Given the description of an element on the screen output the (x, y) to click on. 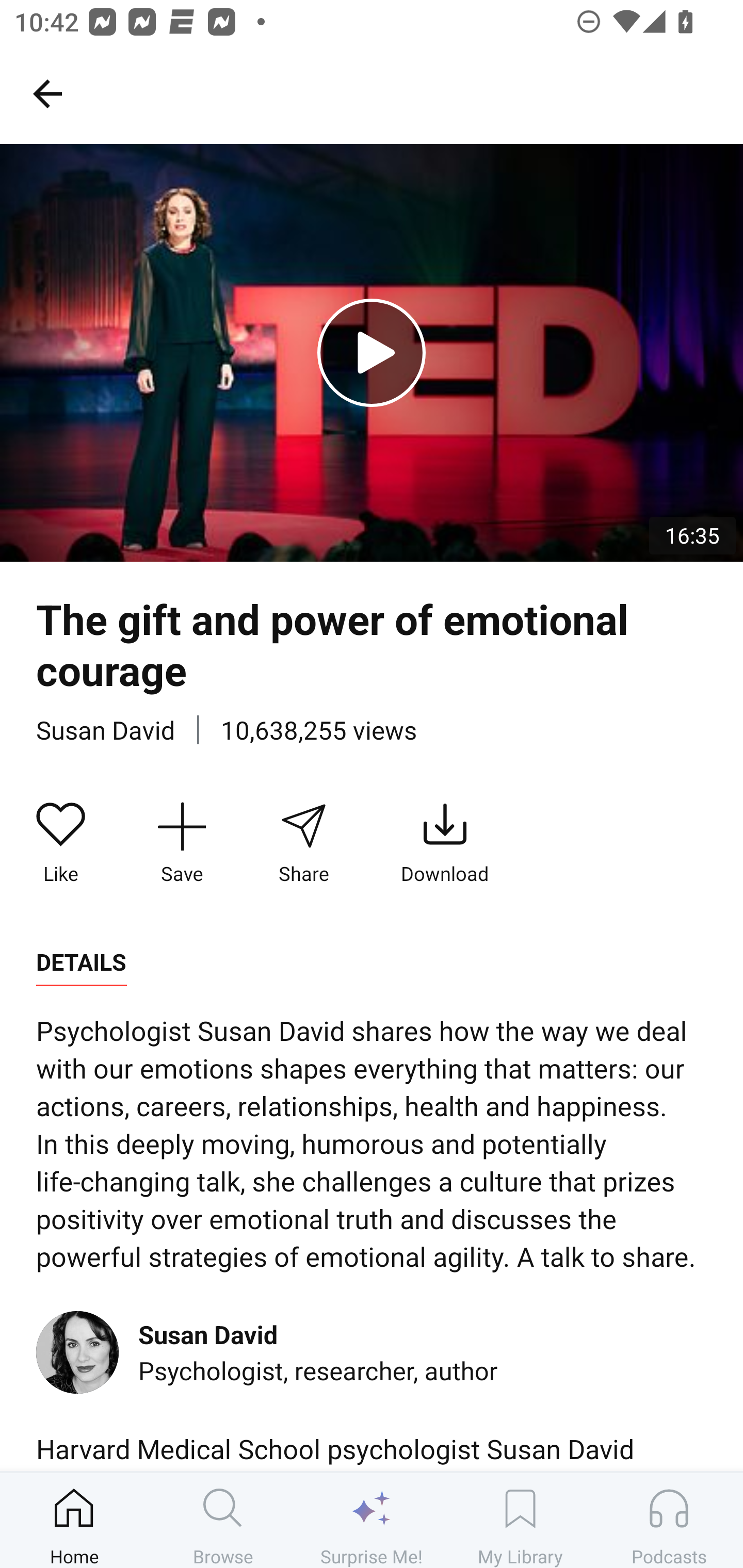
Home, back (47, 92)
Like (60, 843)
Save (181, 843)
Share (302, 843)
Download (444, 843)
DETAILS (80, 962)
Home (74, 1520)
Browse (222, 1520)
Surprise Me! (371, 1520)
My Library (519, 1520)
Podcasts (668, 1520)
